Given the description of an element on the screen output the (x, y) to click on. 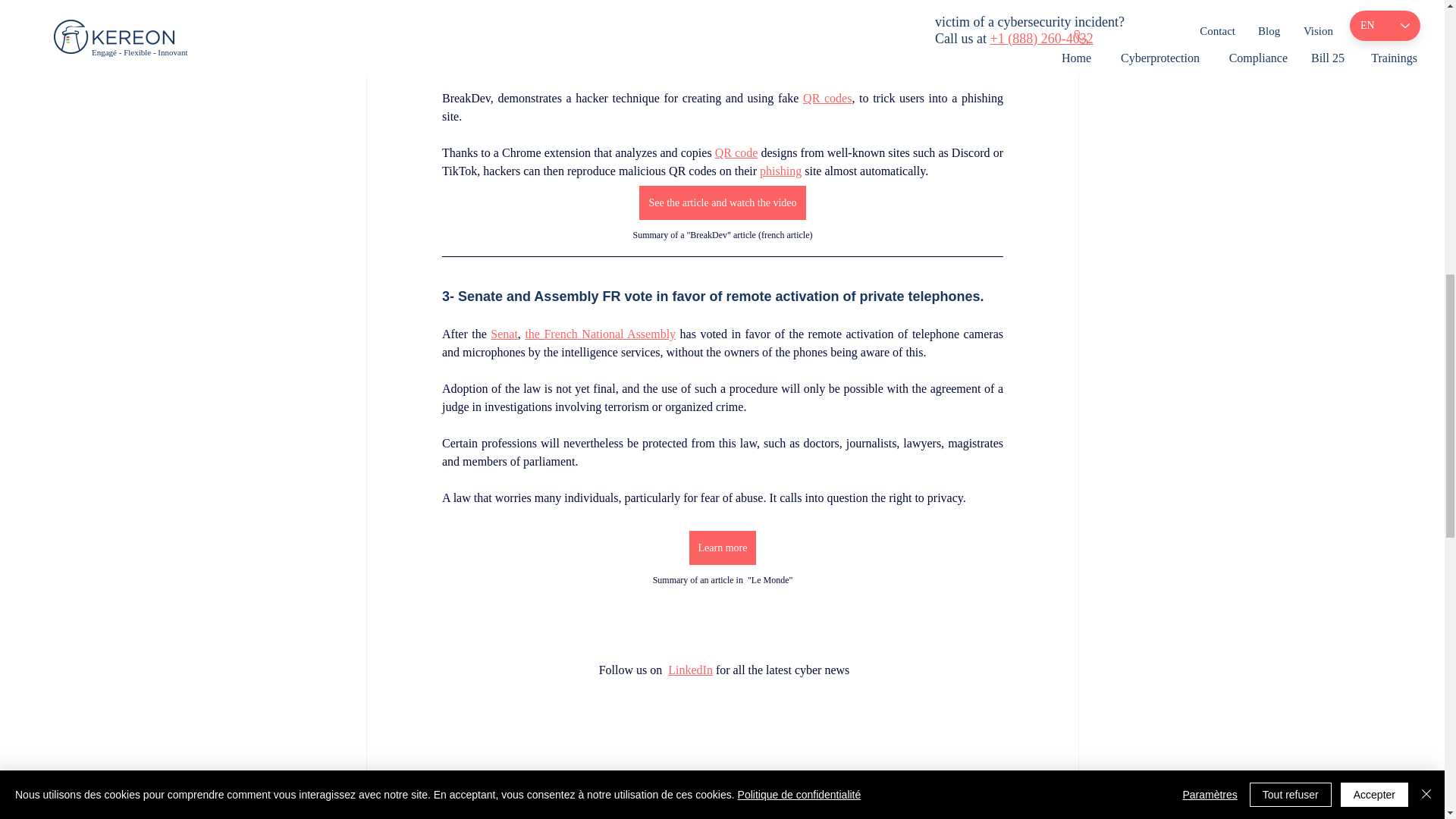
QR codes (605, 814)
Senat (504, 333)
QR codes (827, 97)
data (614, 792)
See the article and watch the video (722, 202)
cyber news (831, 792)
artificial intelligence (733, 792)
QR code (735, 152)
AI (656, 792)
LinkedIn (690, 669)
